Given the description of an element on the screen output the (x, y) to click on. 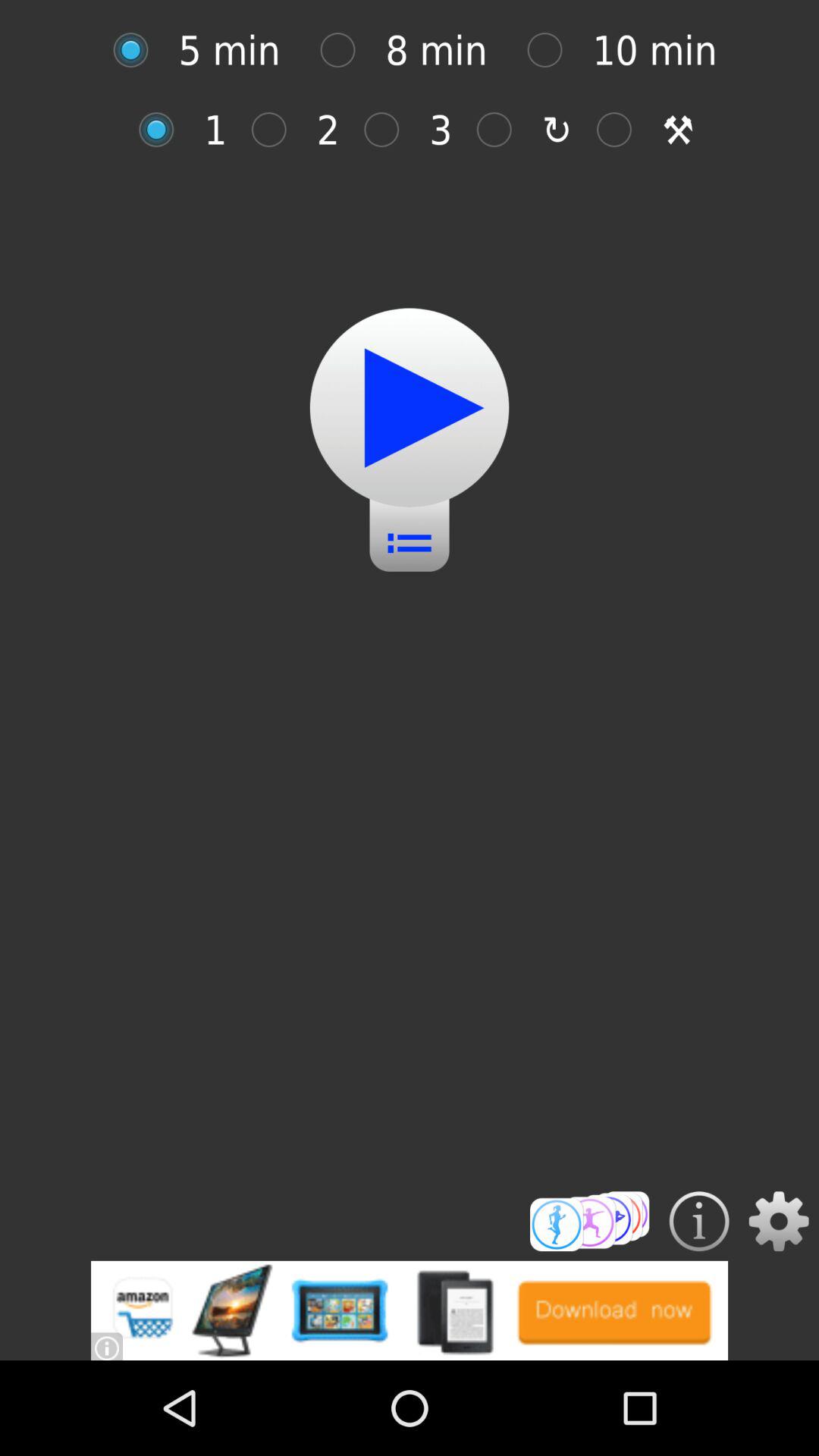
toggle selection 1 (164, 129)
